Given the description of an element on the screen output the (x, y) to click on. 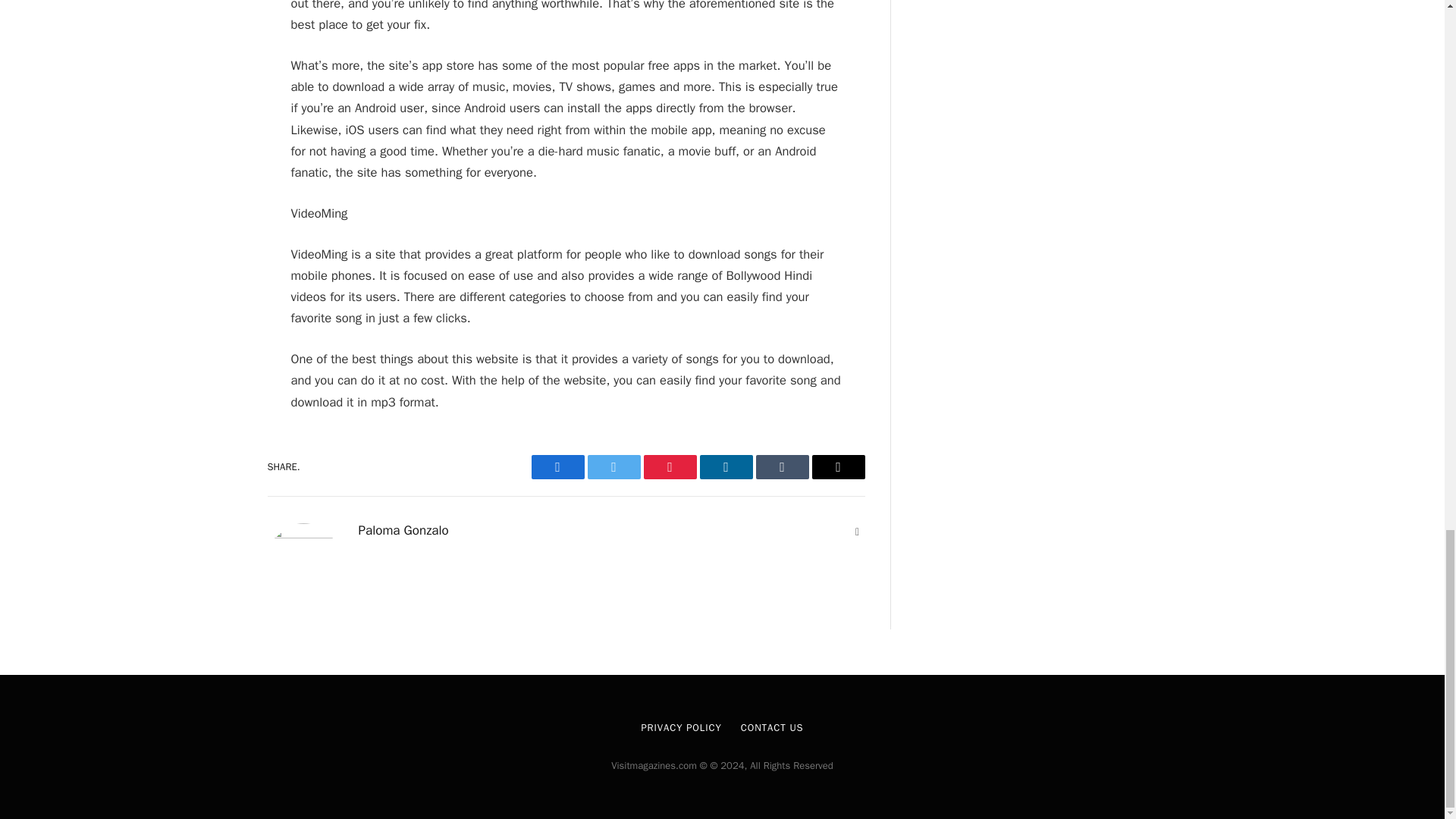
Twitter (613, 467)
Facebook (557, 467)
LinkedIn (725, 467)
Pinterest (669, 467)
